Given the description of an element on the screen output the (x, y) to click on. 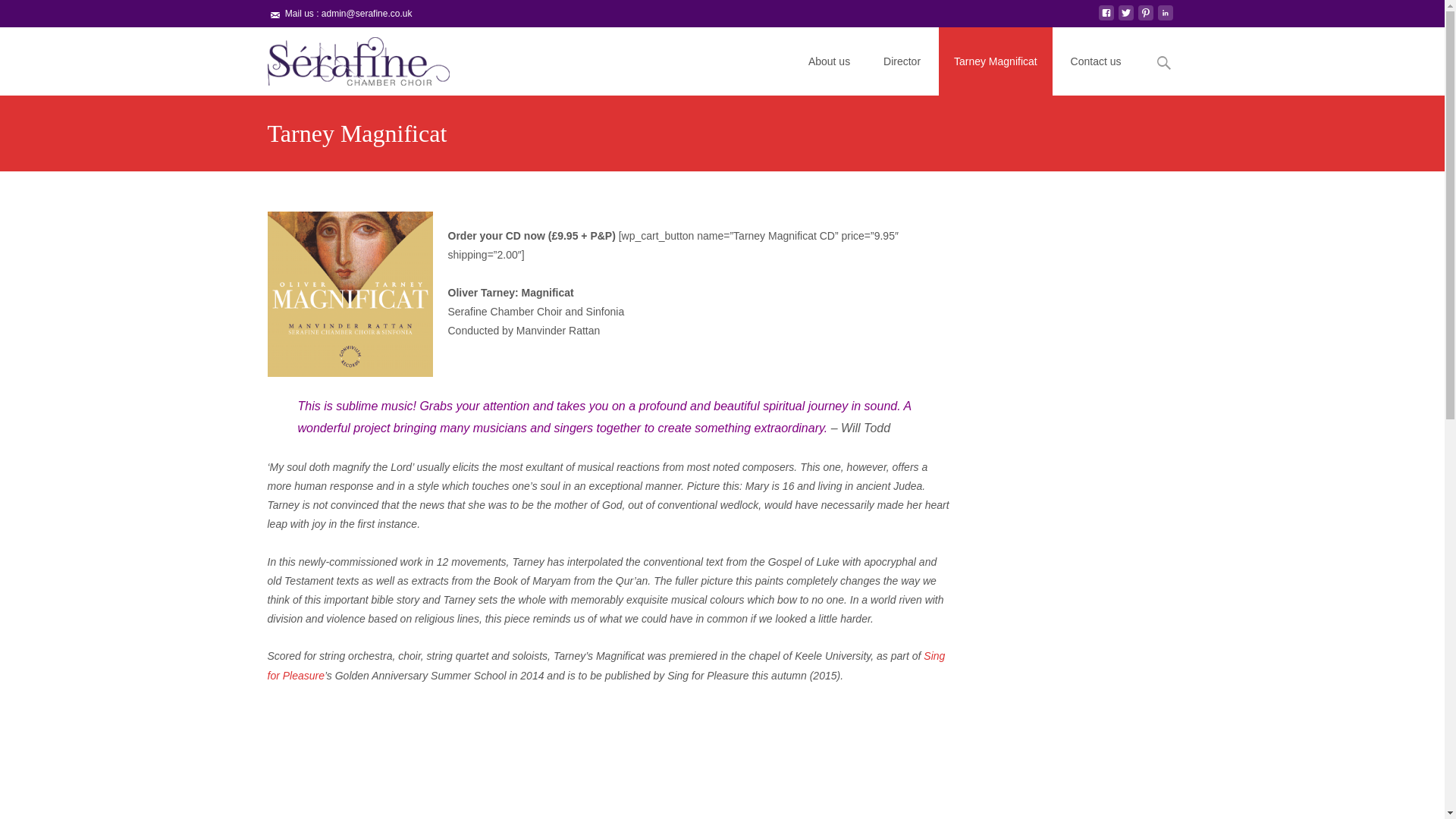
Director (901, 61)
Contact us (1096, 61)
Sing for Pleasure (605, 665)
Serafine Chamber Choir (345, 57)
Search (18, 14)
twitter (1125, 19)
pinterest (1145, 19)
Tarney Magnificat (995, 61)
About us (828, 61)
facebook (1105, 19)
Search for: (1163, 62)
linkedin (1164, 19)
